Given the description of an element on the screen output the (x, y) to click on. 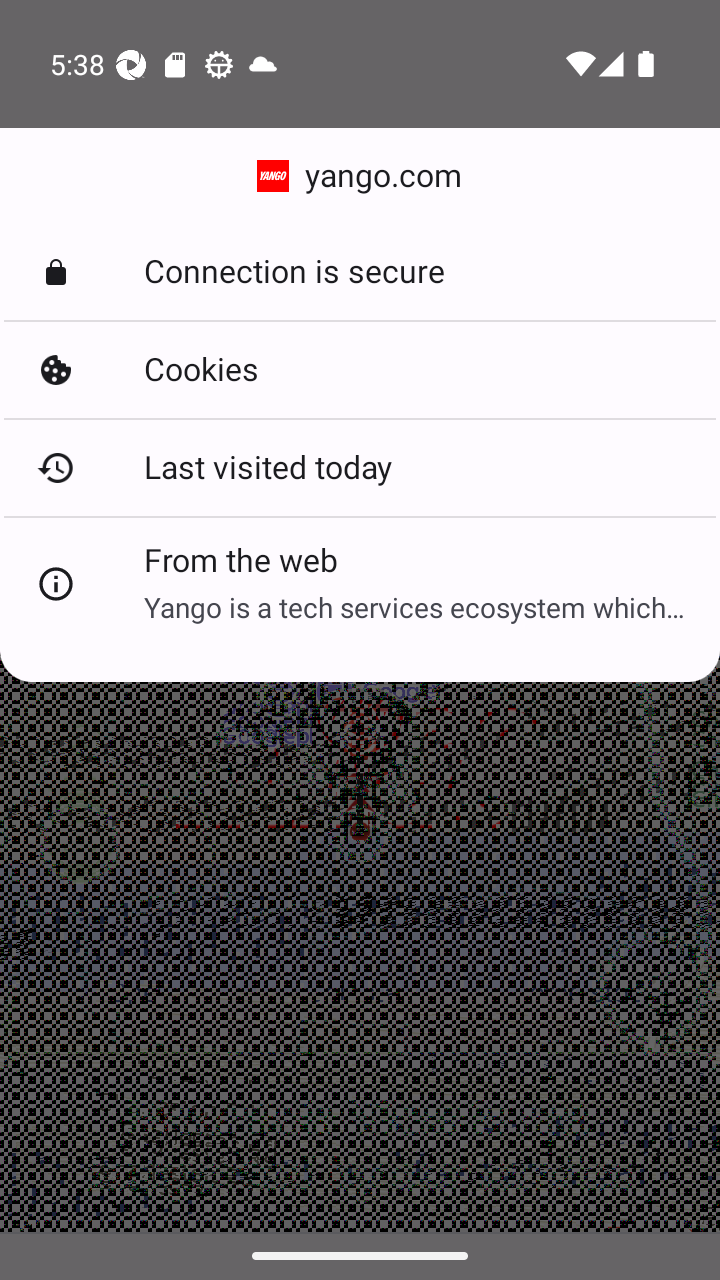
yango.com (360, 176)
Connection is secure (360, 272)
Cookies (360, 370)
Last visited today (360, 467)
